Given the description of an element on the screen output the (x, y) to click on. 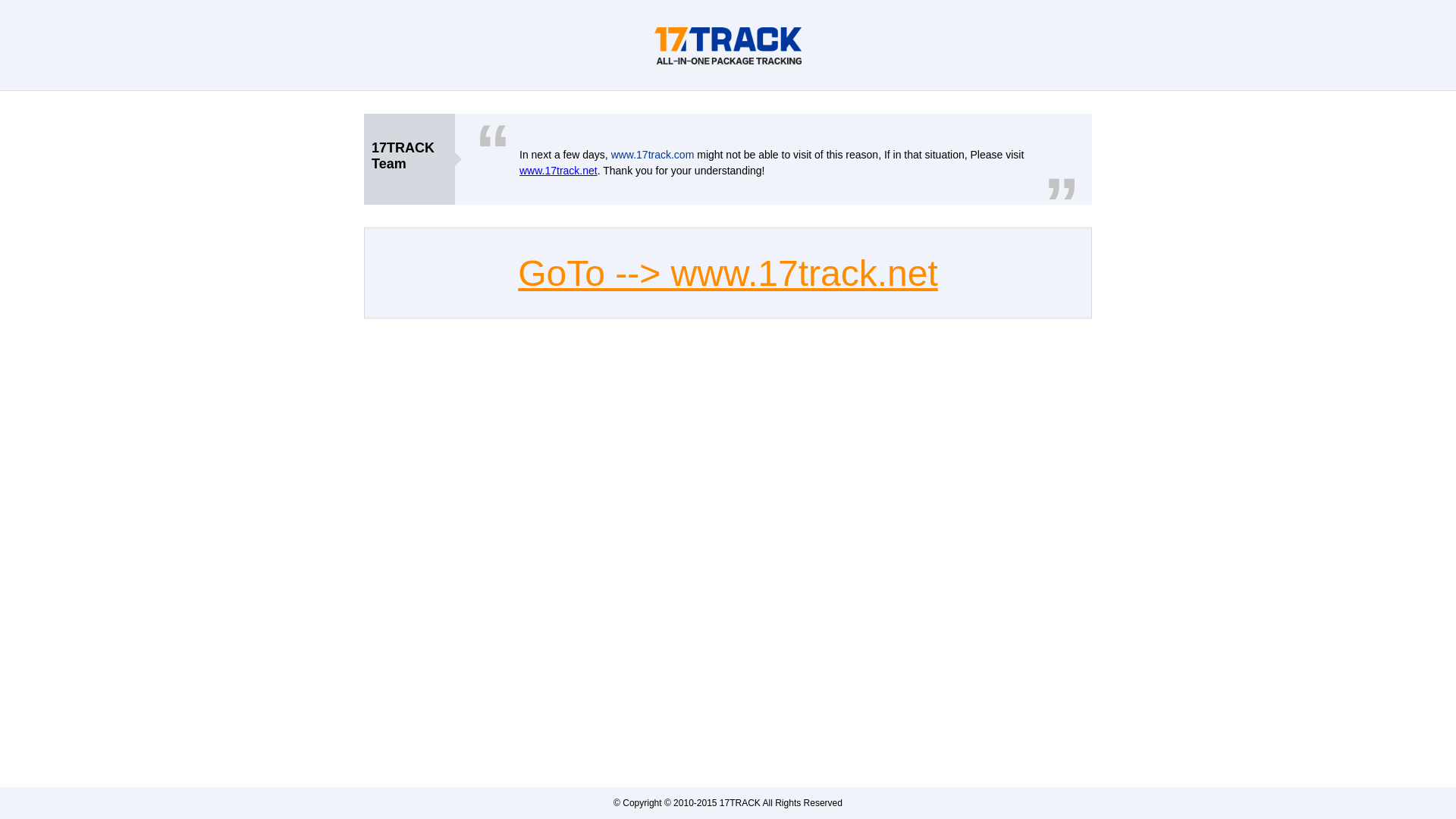
www.17track.net Element type: text (558, 170)
Advertisement Element type: hover (727, 375)
GoTo --> www.17track.net Element type: text (728, 272)
